Given the description of an element on the screen output the (x, y) to click on. 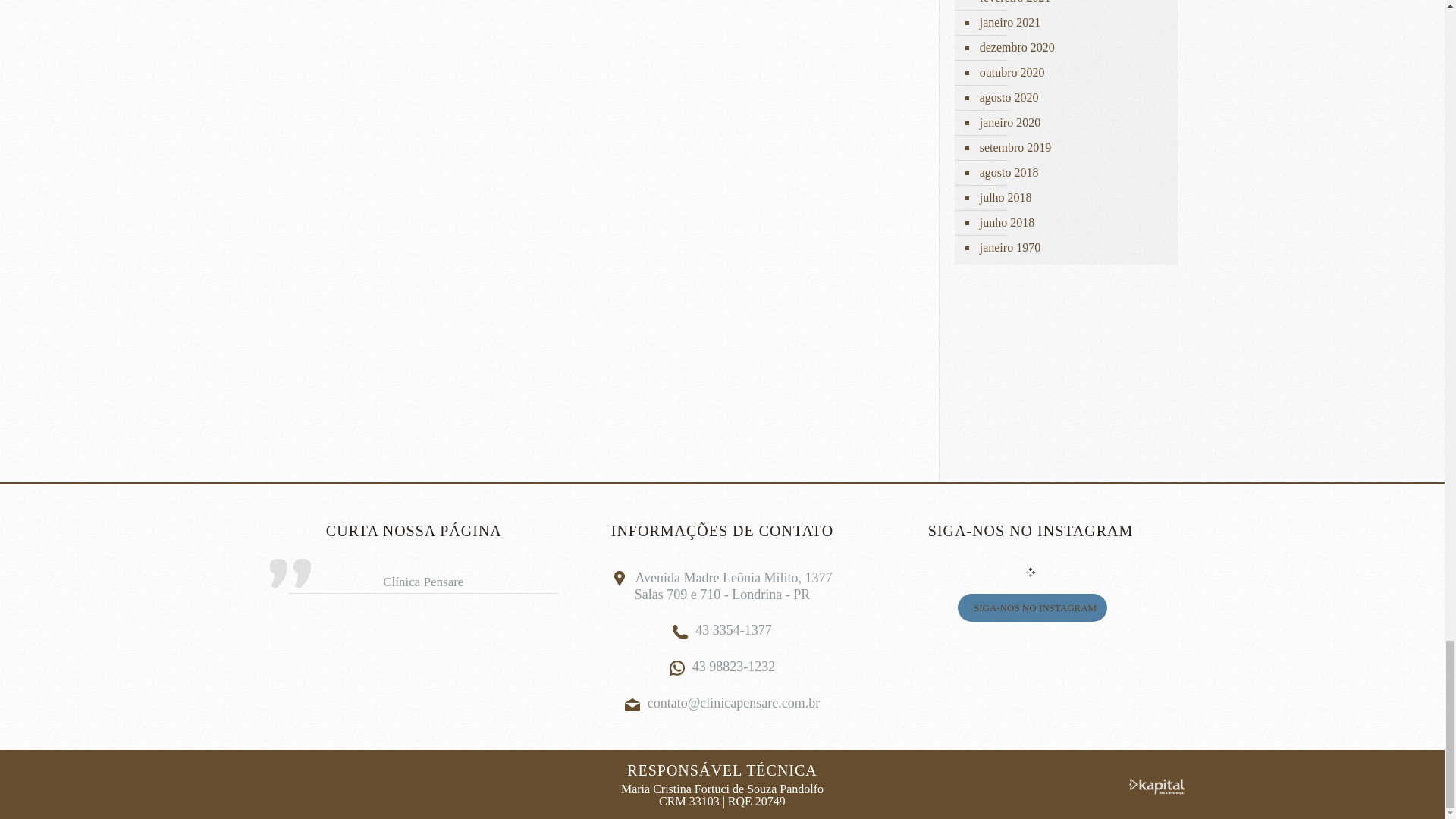
Clique para enviar uma mensagem via WhatsApp (722, 666)
E-mail (632, 703)
Telefone (679, 631)
